Given the description of an element on the screen output the (x, y) to click on. 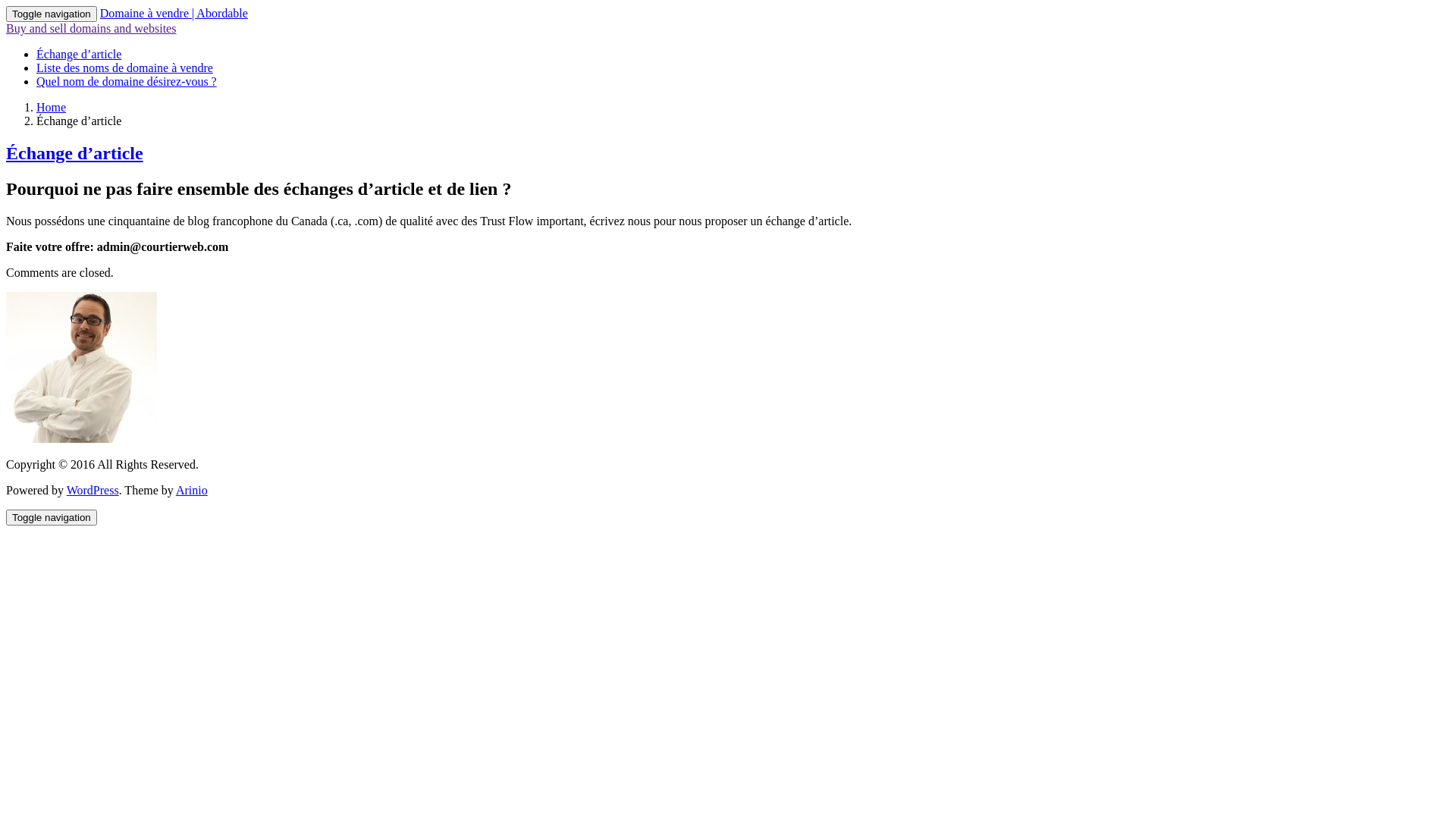
Buy and sell domains and websites Element type: text (90, 27)
Arinio Element type: text (191, 489)
Toggle navigation Element type: text (51, 517)
WordPress Element type: text (92, 489)
Toggle navigation Element type: text (51, 13)
Home Element type: text (50, 106)
